Given the description of an element on the screen output the (x, y) to click on. 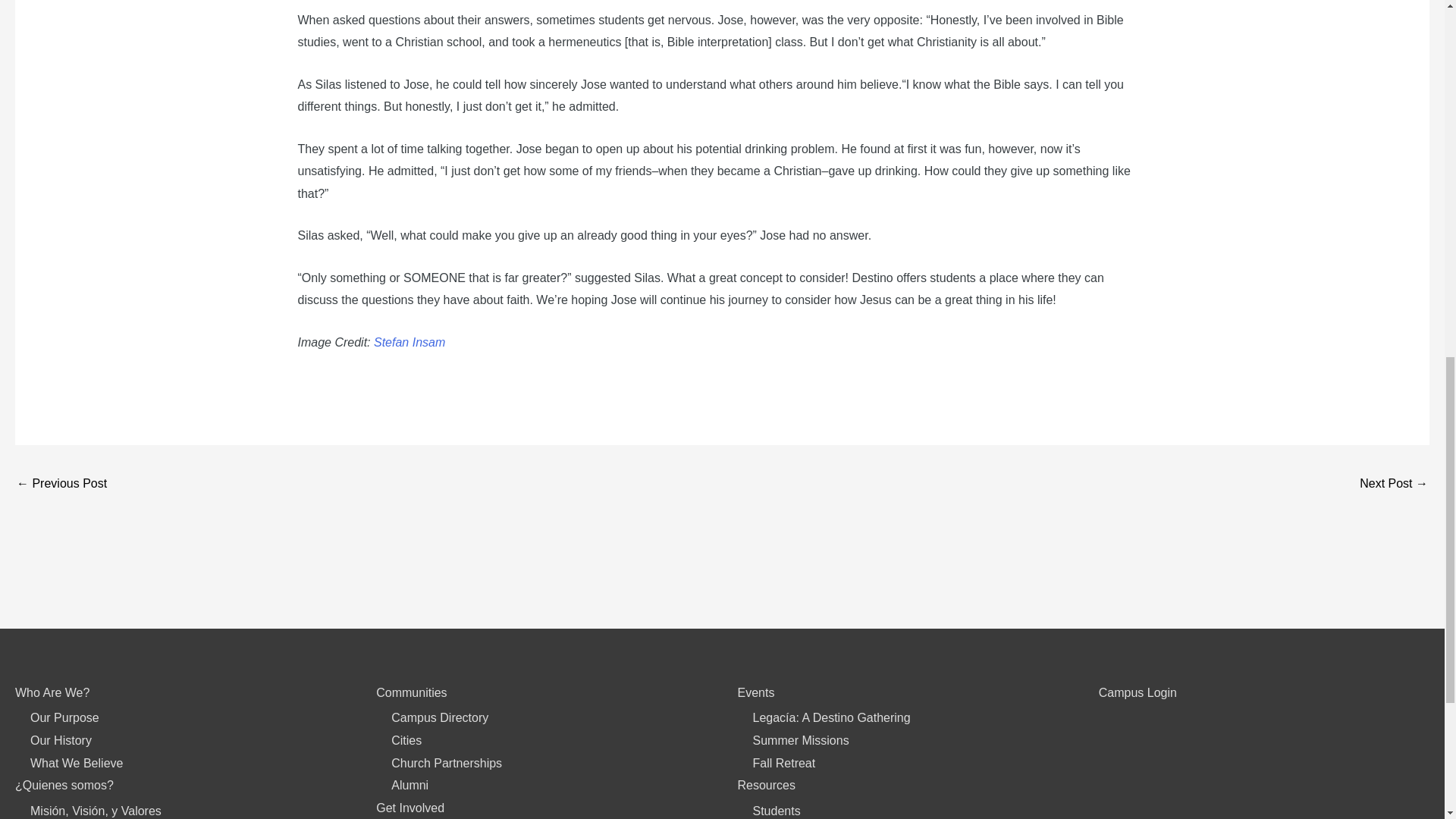
Who Are We? (51, 692)
Our Purpose (64, 717)
Cities (406, 739)
What We Believe (76, 762)
Campus Directory (439, 717)
Communities (410, 692)
Stefan Insam (409, 341)
Our History (60, 739)
When you hit a wall. (61, 484)
